Given the description of an element on the screen output the (x, y) to click on. 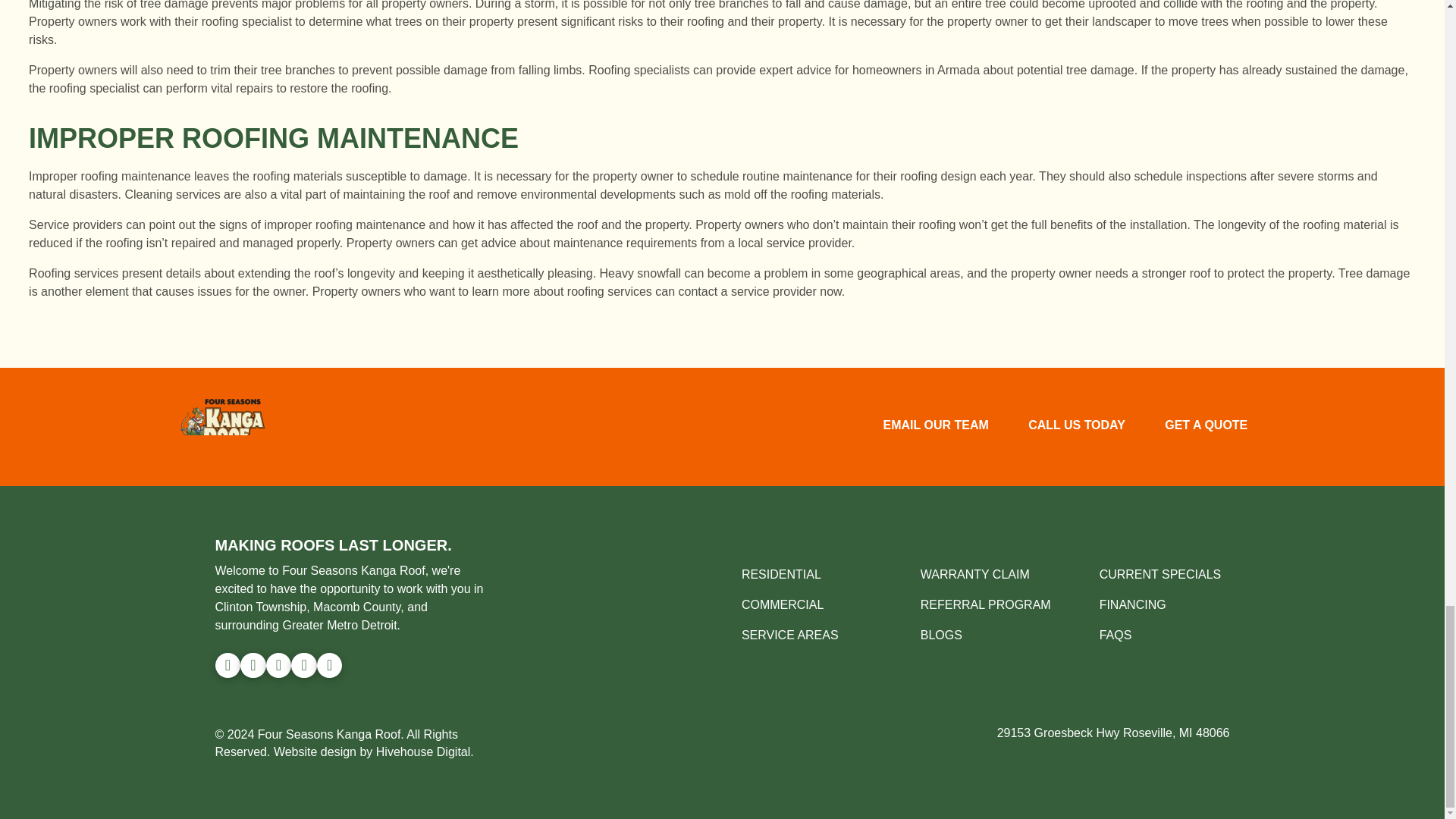
GET A QUOTE (1205, 425)
RESIDENTIAL (781, 574)
Website design by Hivehouse Digital. (373, 751)
CURRENT SPECIALS (1160, 574)
EMAIL OUR TEAM (935, 425)
WARRANTY CLAIM (974, 574)
REFERRAL PROGRAM (985, 604)
FINANCING (1132, 604)
COMMERCIAL (782, 604)
FAQS (1115, 634)
